Given the description of an element on the screen output the (x, y) to click on. 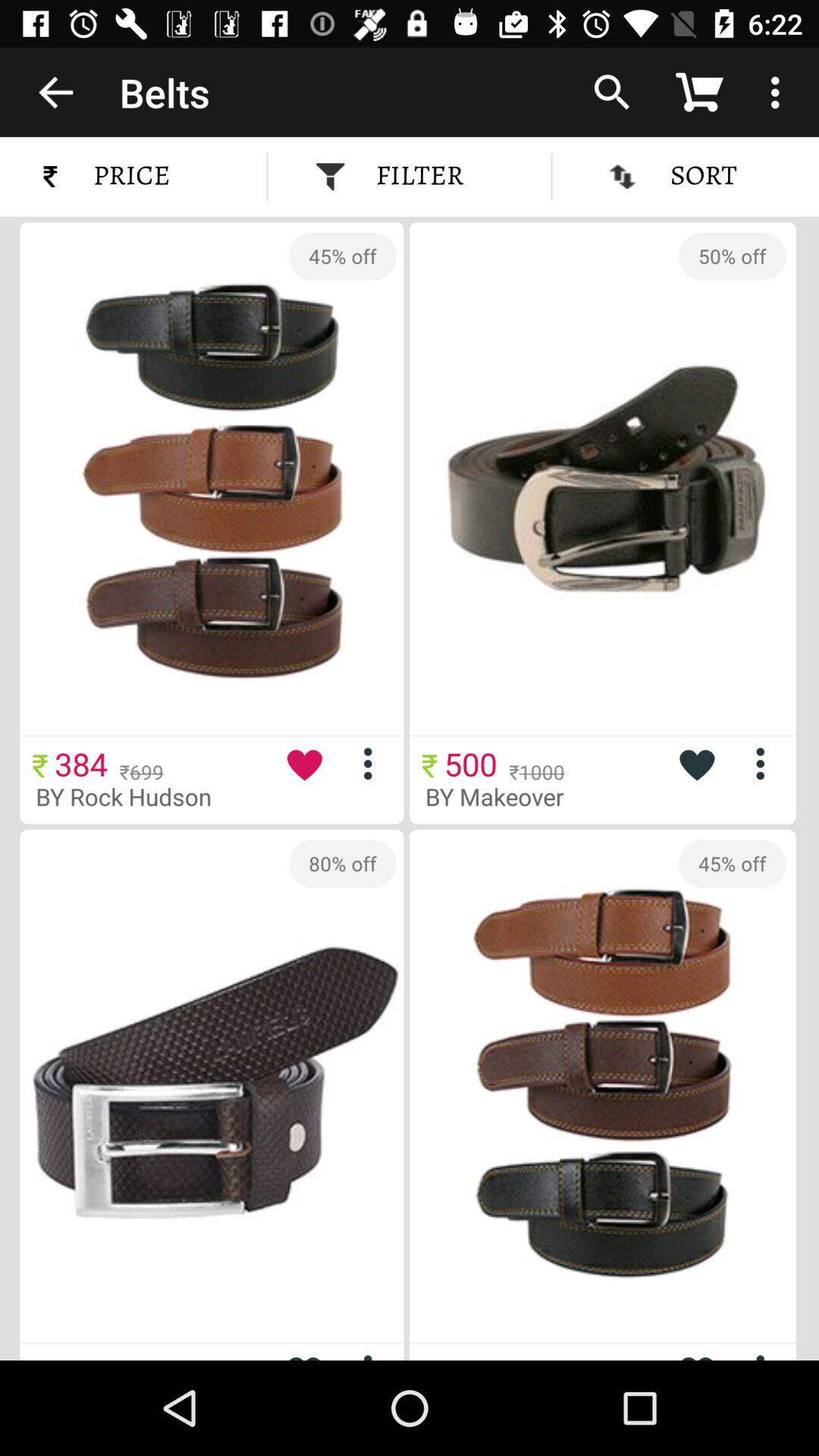
launch the item next to the belts (55, 92)
